Given the description of an element on the screen output the (x, y) to click on. 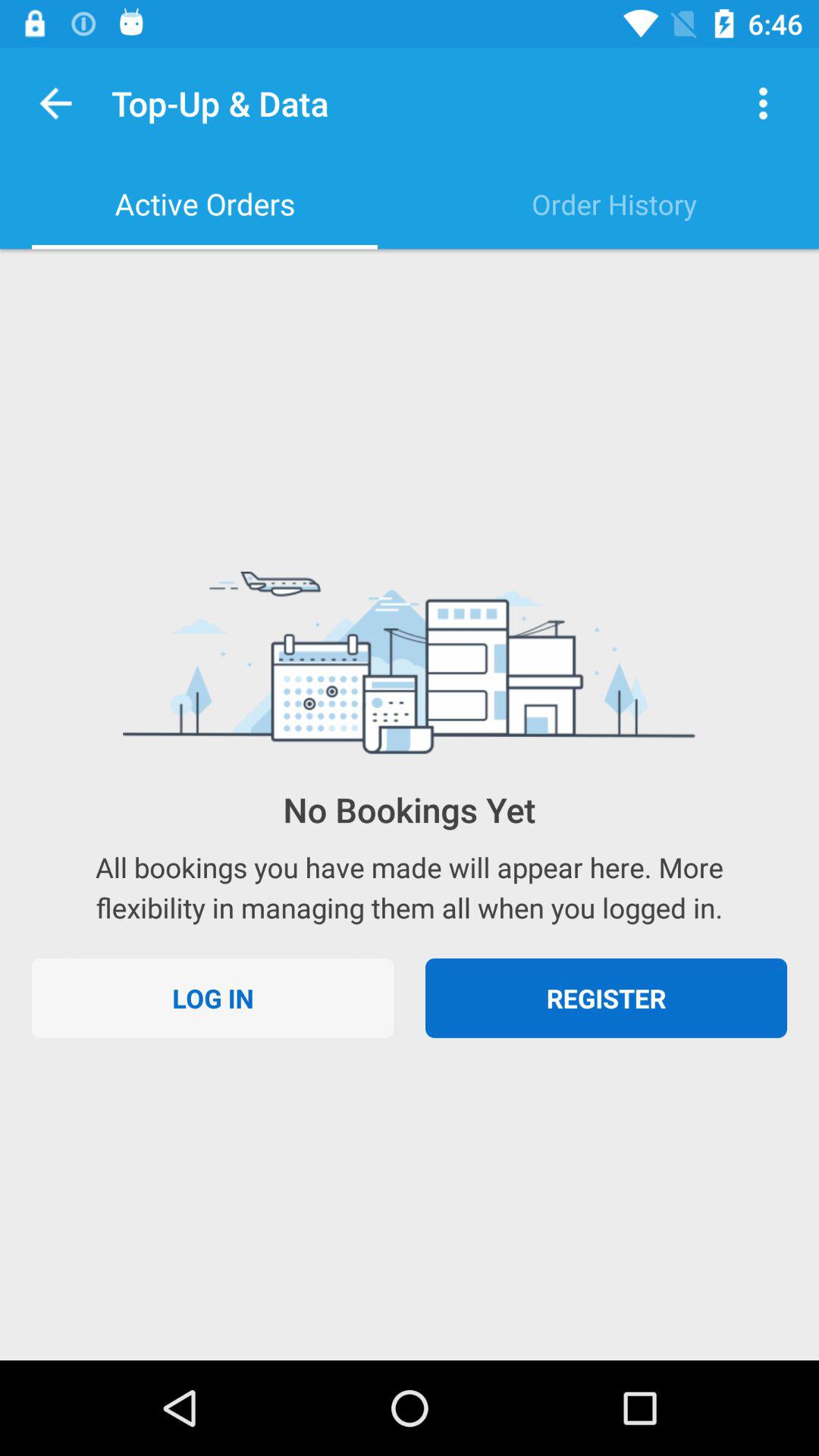
turn off item above active orders item (55, 103)
